Given the description of an element on the screen output the (x, y) to click on. 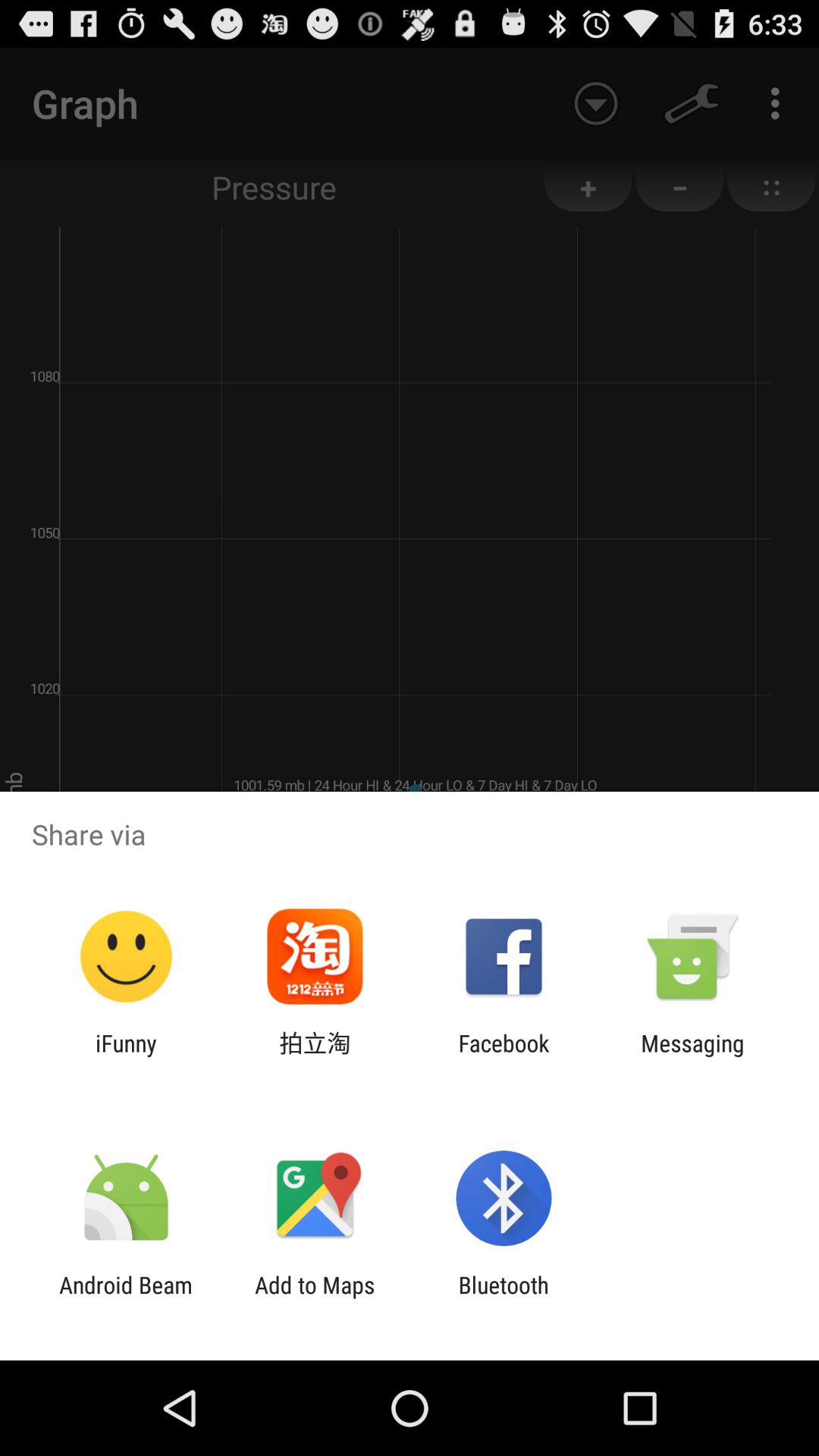
click app to the left of add to maps (125, 1298)
